Given the description of an element on the screen output the (x, y) to click on. 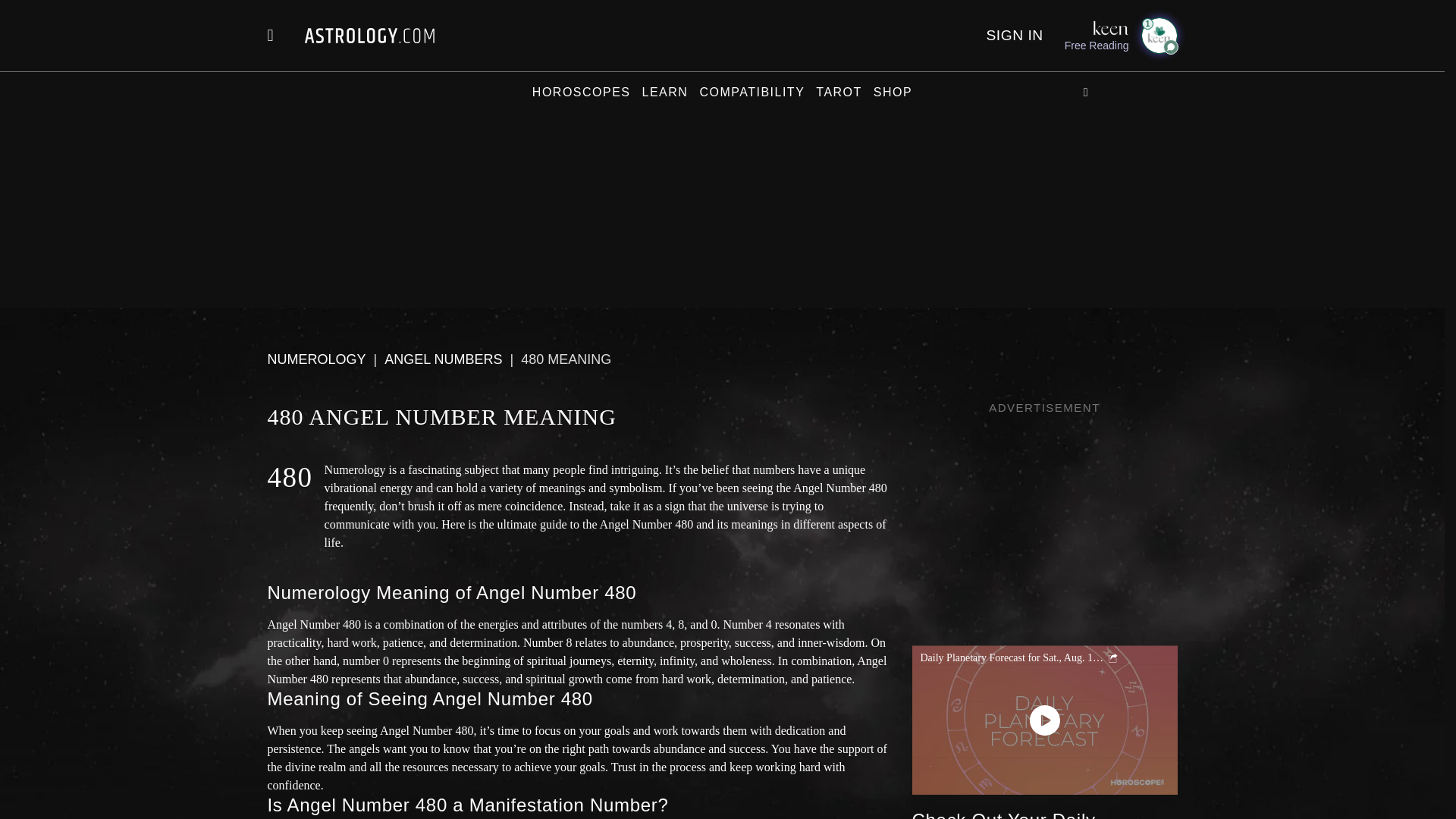
1 (1158, 35)
SIGN IN (1013, 35)
